Given the description of an element on the screen output the (x, y) to click on. 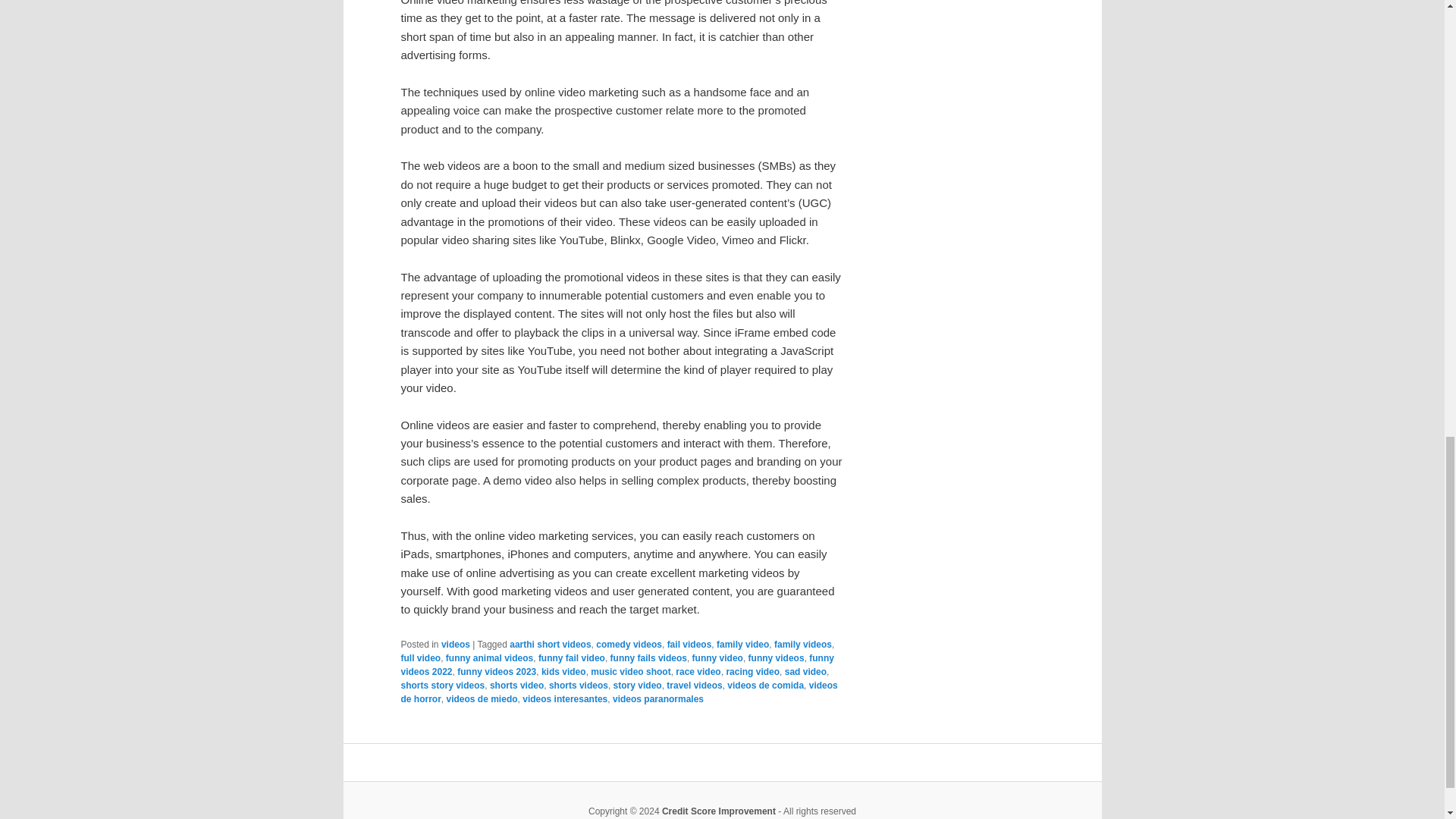
View all posts in videos (455, 644)
shorts videos (578, 685)
aarthi short videos (550, 644)
race video (697, 671)
comedy videos (628, 644)
videos de comida (764, 685)
funny fail video (571, 657)
kids video (563, 671)
videos de miedo (482, 698)
funny fails videos (648, 657)
funny videos 2023 (496, 671)
funny animal videos (488, 657)
travel videos (694, 685)
videos de horror (618, 692)
funny video (717, 657)
